Given the description of an element on the screen output the (x, y) to click on. 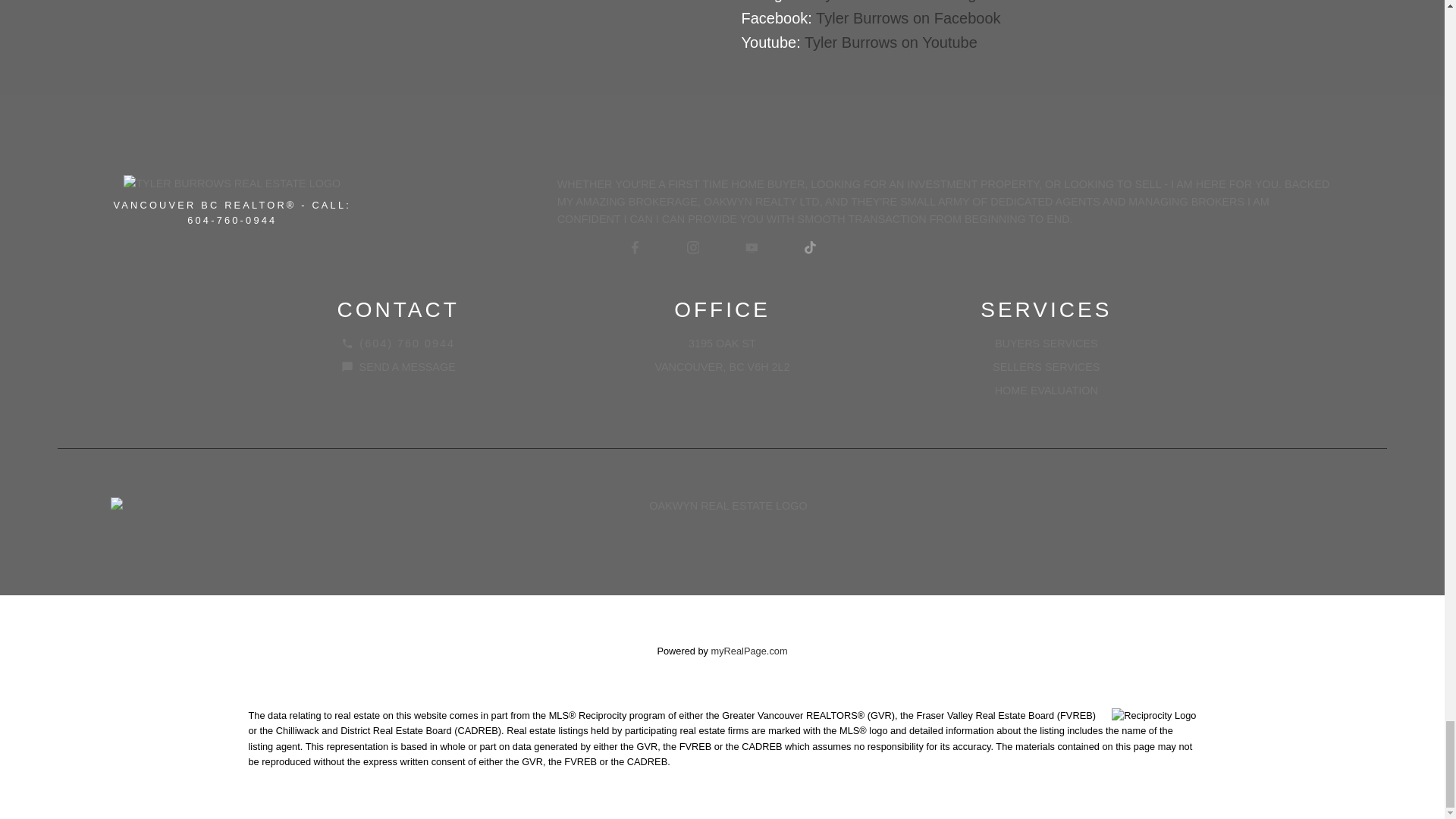
Facebook (634, 247)
Youtube (751, 247)
instagram (692, 247)
TikTok (810, 247)
